Given the description of an element on the screen output the (x, y) to click on. 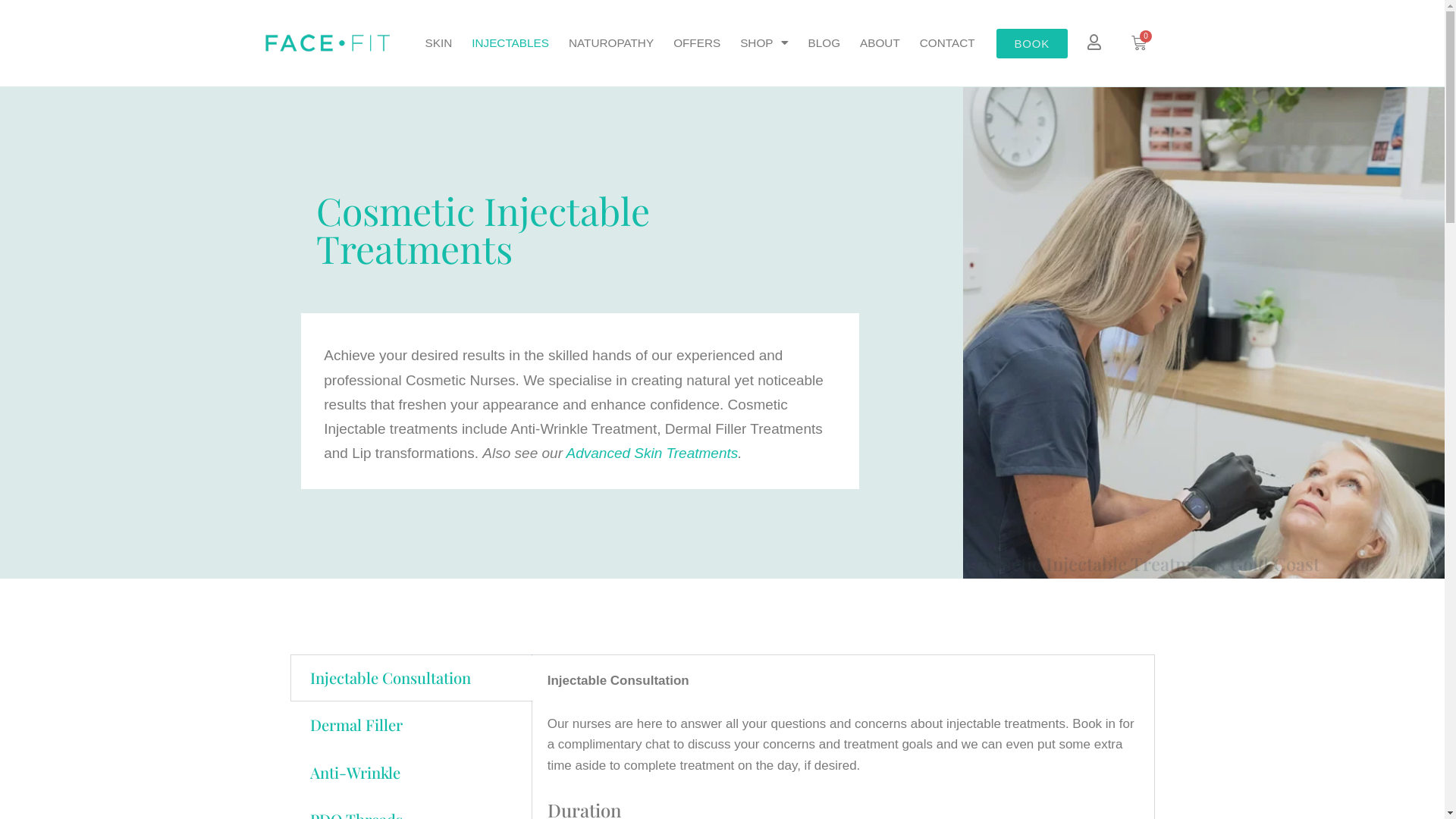
Advanced Skin Treatments Element type: text (652, 453)
SKIN Element type: text (438, 42)
Skip to content Element type: text (11, 31)
NATUROPATHY Element type: text (610, 42)
BLOG Element type: text (824, 42)
ABOUT Element type: text (880, 42)
INJECTABLES Element type: text (509, 42)
OFFERS Element type: text (696, 42)
0 Element type: text (1138, 42)
SHOP Element type: text (763, 42)
CONTACT Element type: text (947, 42)
BOOK Element type: text (1032, 43)
